Given the description of an element on the screen output the (x, y) to click on. 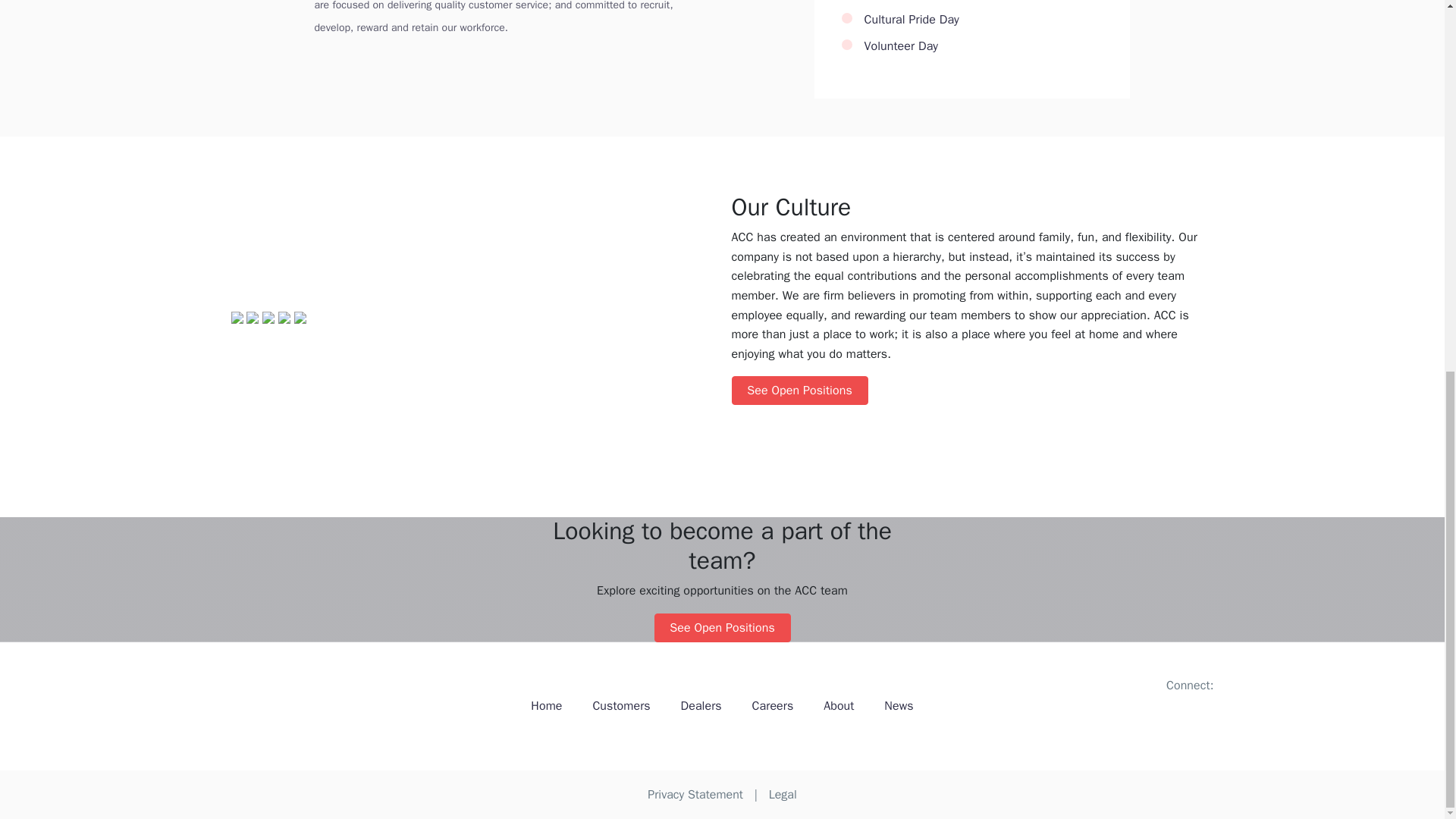
Dealers (701, 706)
About (838, 706)
Home (546, 706)
See Open Positions (721, 627)
Legal (782, 794)
See Open Positions (798, 389)
News (897, 706)
Careers (772, 706)
Customers (620, 706)
Privacy Statement (694, 794)
